Given the description of an element on the screen output the (x, y) to click on. 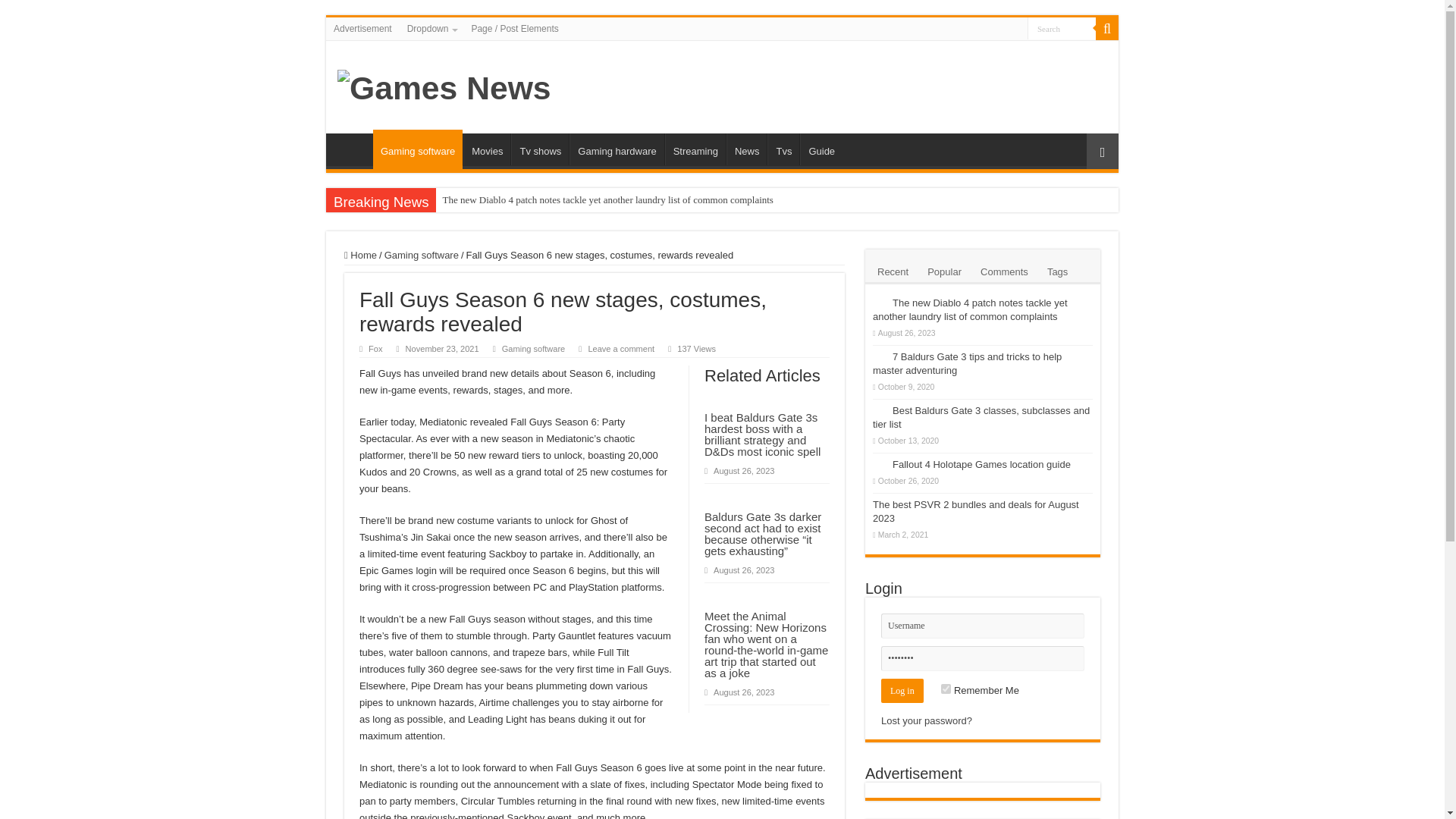
Gaming software (421, 255)
Movies (487, 149)
Dropdown (431, 28)
News (746, 149)
Password (982, 658)
Username (982, 625)
Gaming hardware (616, 149)
forever (945, 688)
Search (1061, 28)
Gaming software (534, 347)
Guide (821, 149)
Tvs (783, 149)
Games News (444, 85)
Streaming (695, 149)
